Given the description of an element on the screen output the (x, y) to click on. 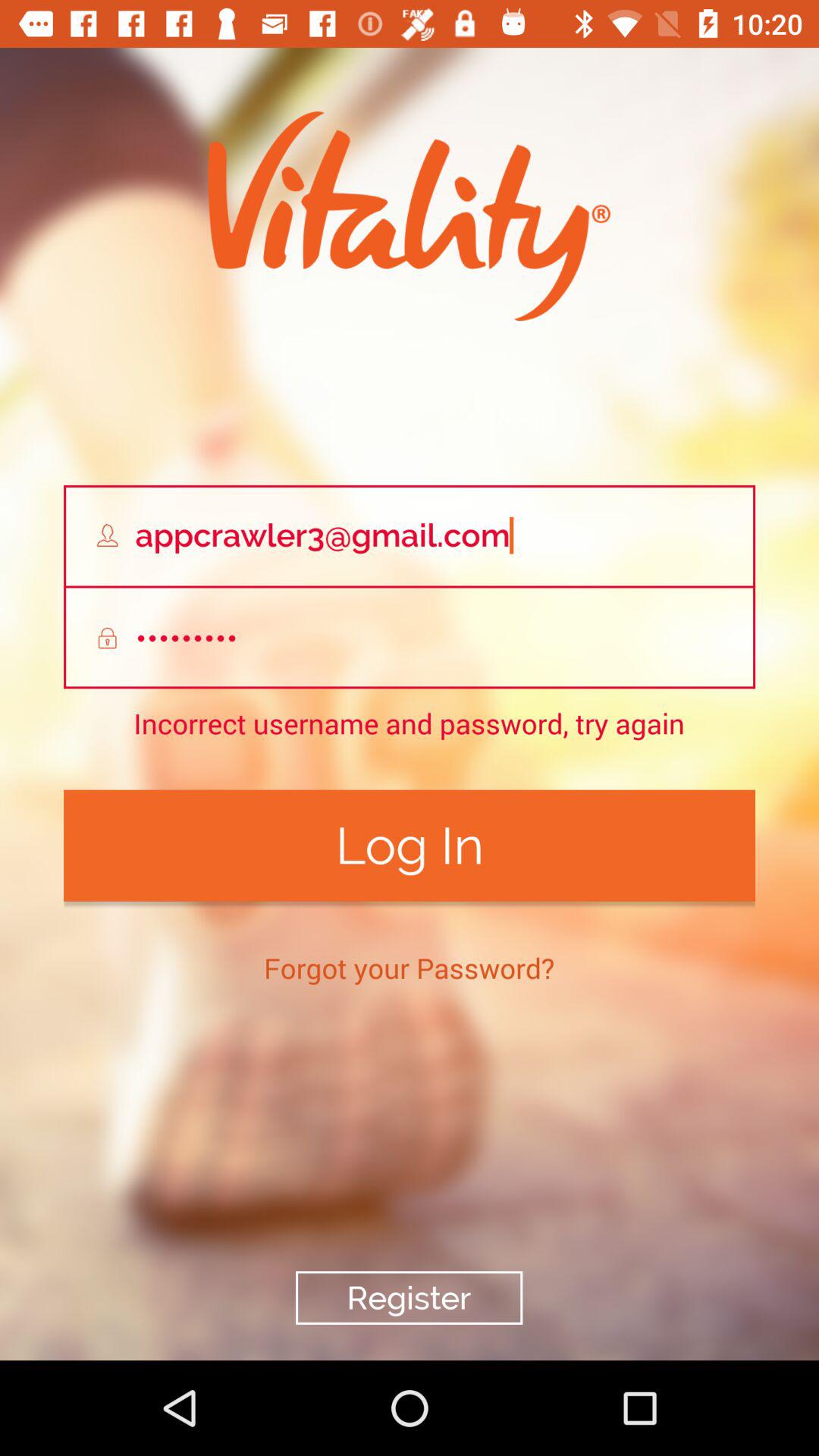
click the appcrawler3@gmail.com item (409, 535)
